Given the description of an element on the screen output the (x, y) to click on. 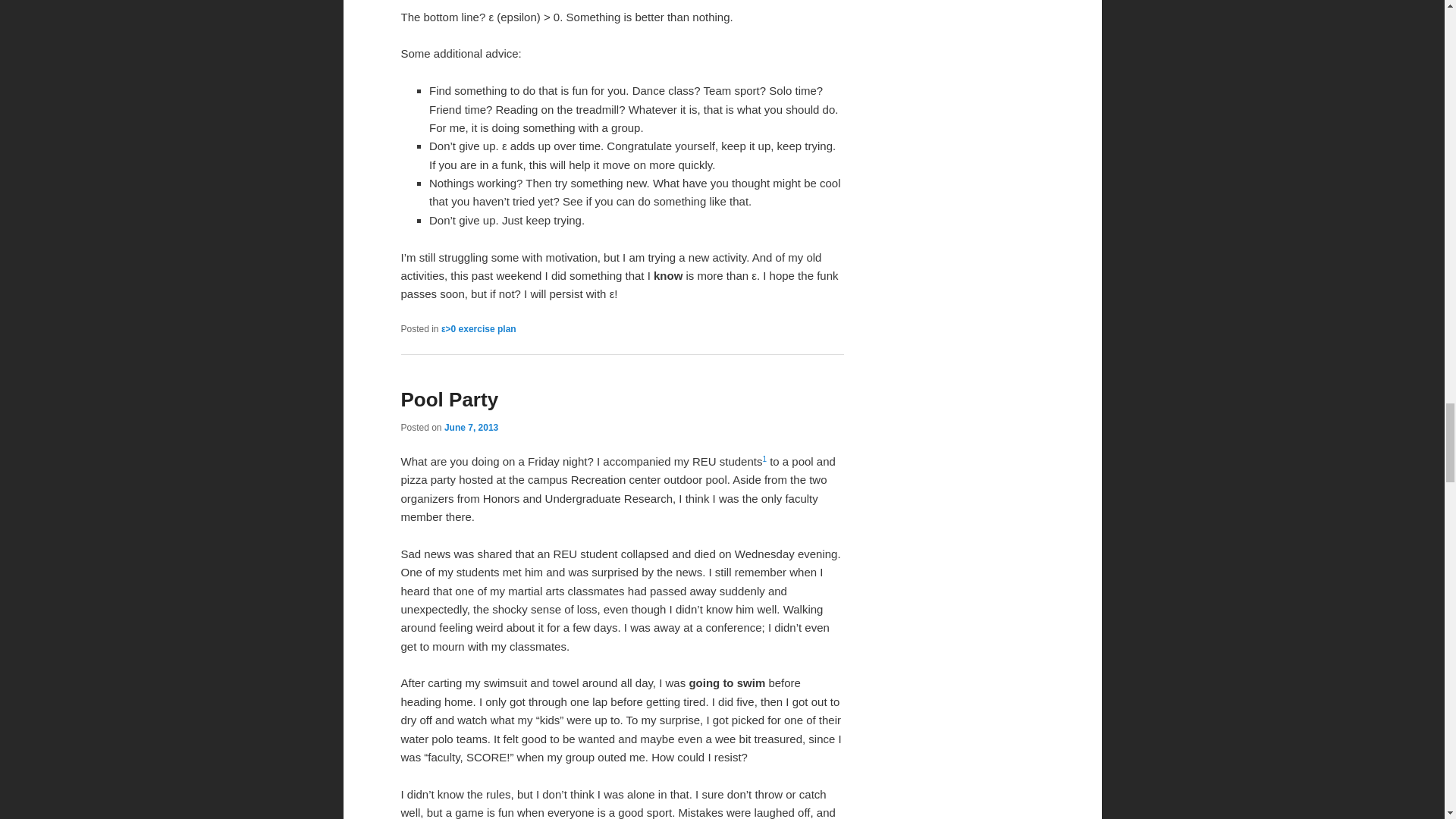
10:17 pm (470, 427)
Pool Party (448, 399)
June 7, 2013 (470, 427)
